Given the description of an element on the screen output the (x, y) to click on. 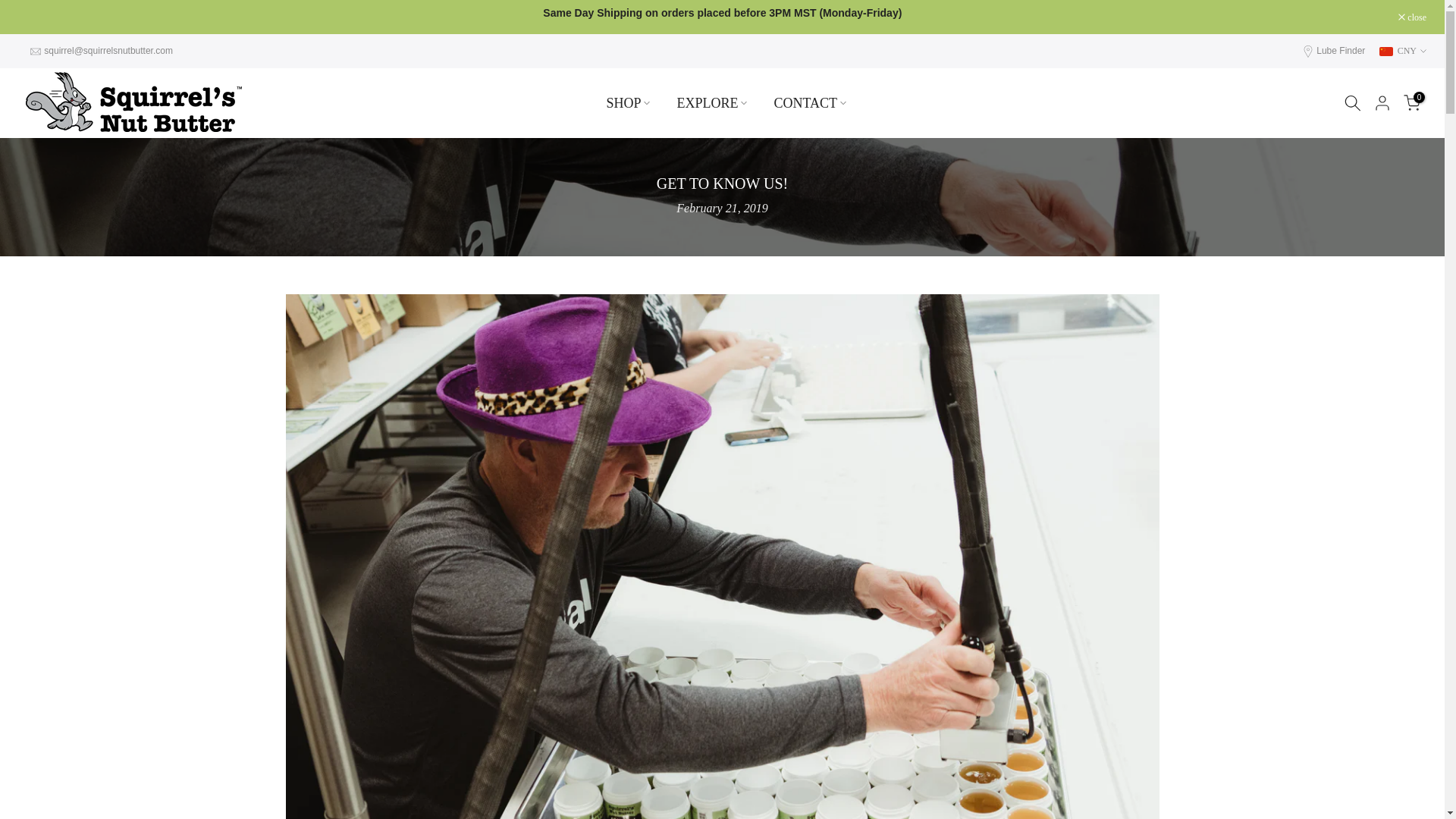
close (1411, 16)
CNY (1402, 50)
Skip to content (10, 7)
Lube Finder (1340, 50)
